Given the description of an element on the screen output the (x, y) to click on. 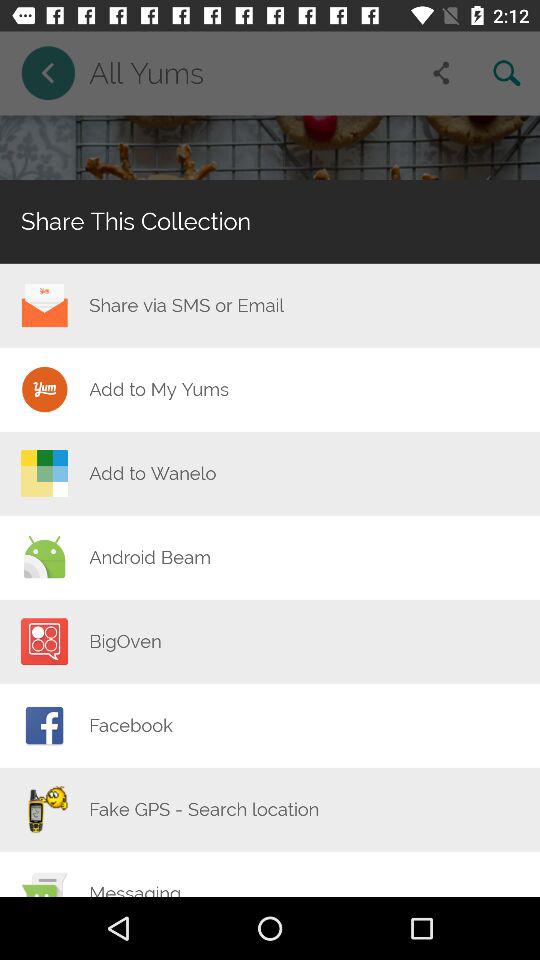
choose item above the facebook icon (125, 641)
